Given the description of an element on the screen output the (x, y) to click on. 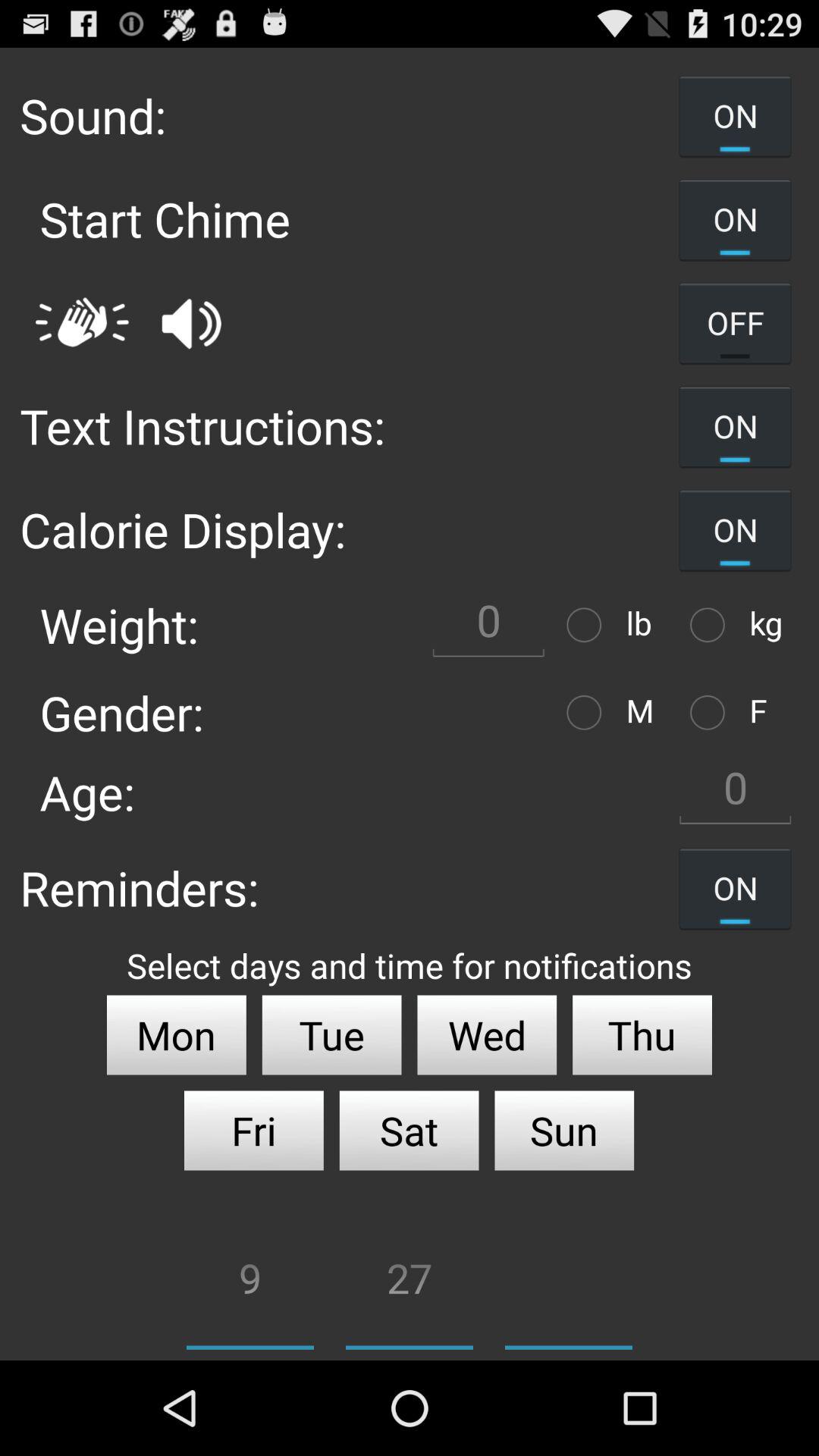
select lb (587, 624)
